Given the description of an element on the screen output the (x, y) to click on. 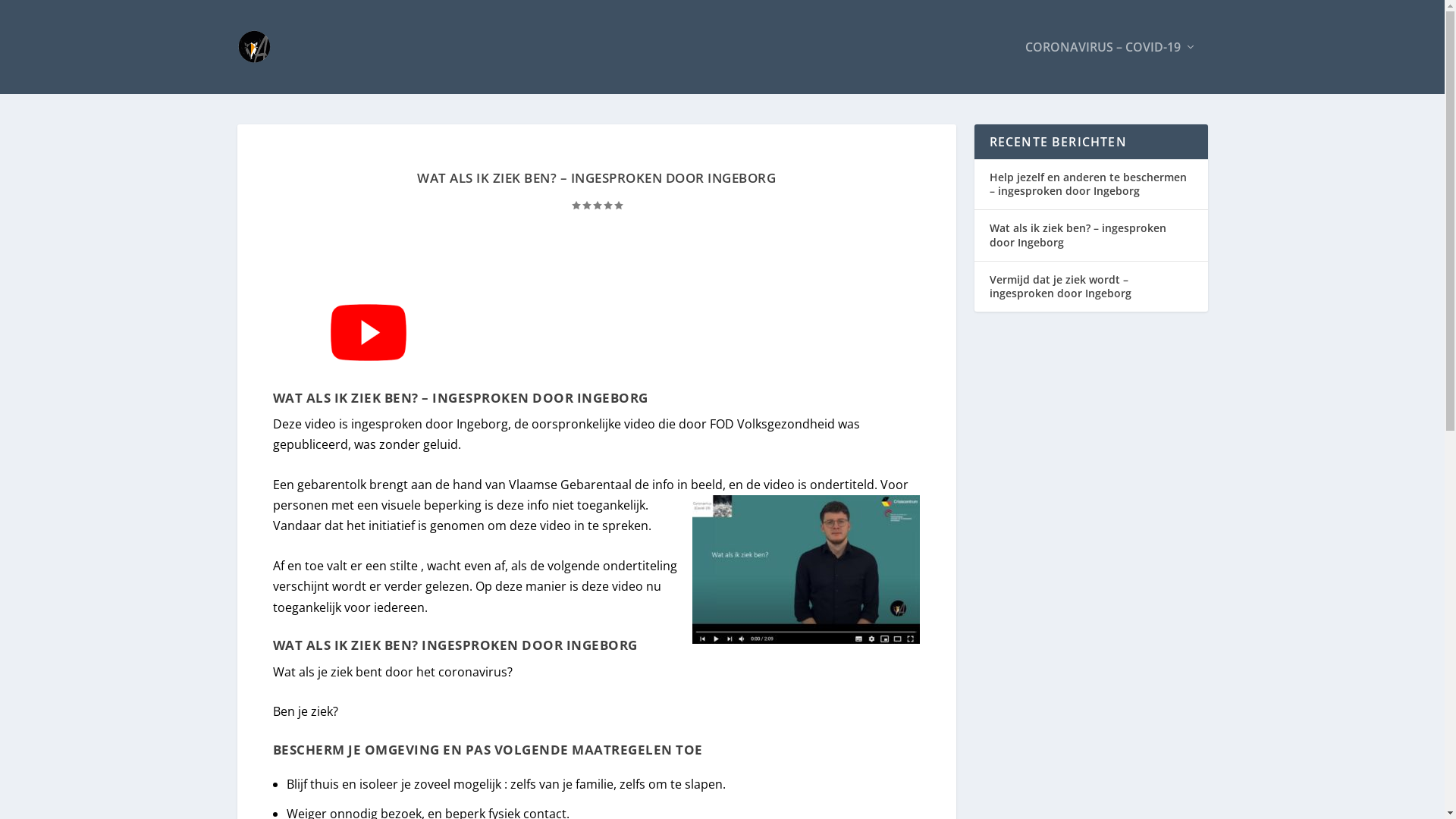
Knop naar Video Element type: hover (368, 332)
Rating: 5.00 Element type: hover (596, 204)
